Given the description of an element on the screen output the (x, y) to click on. 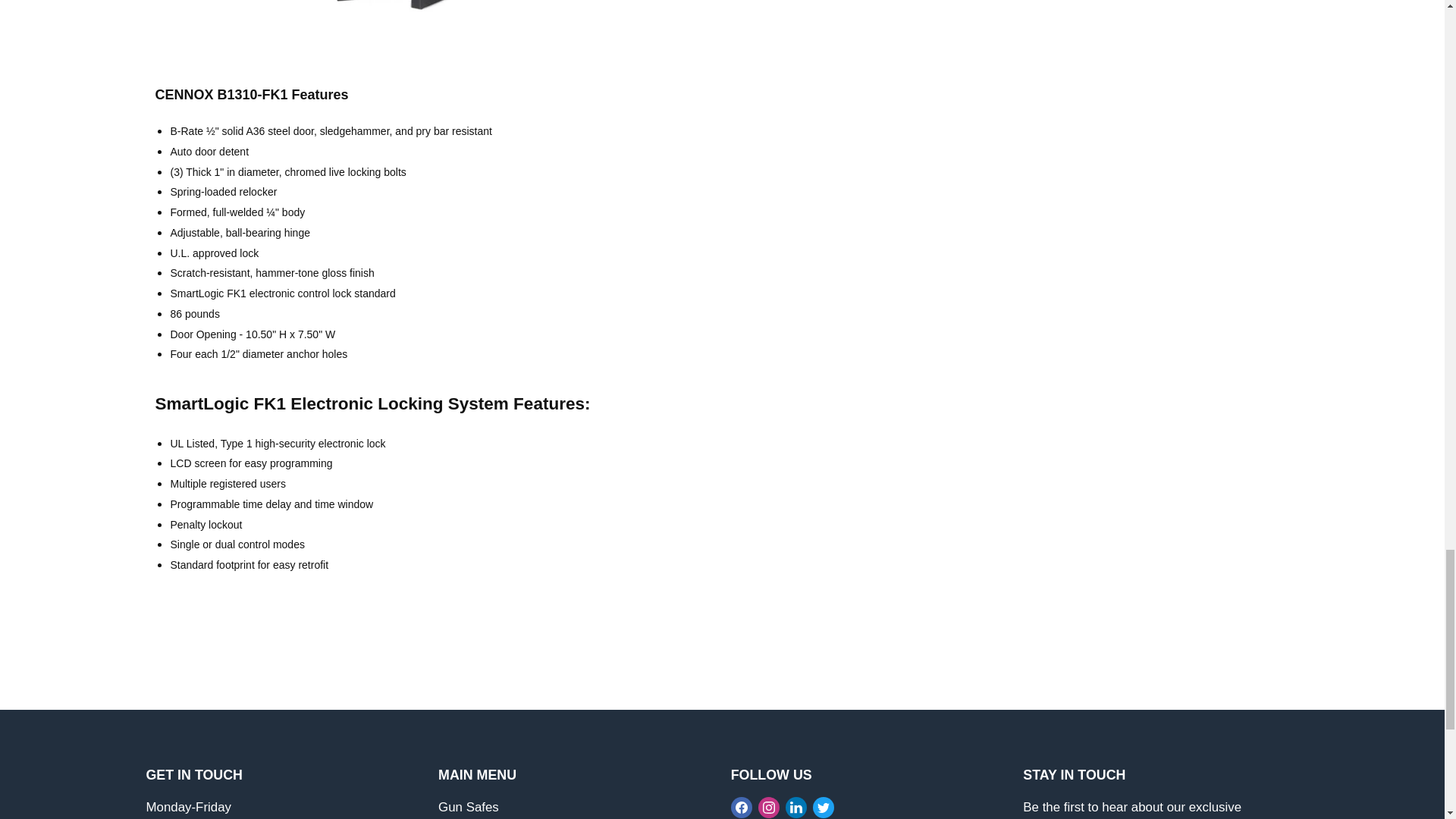
LinkedIn (796, 806)
Twitter (823, 806)
Instagram (769, 806)
Facebook (741, 806)
